Given the description of an element on the screen output the (x, y) to click on. 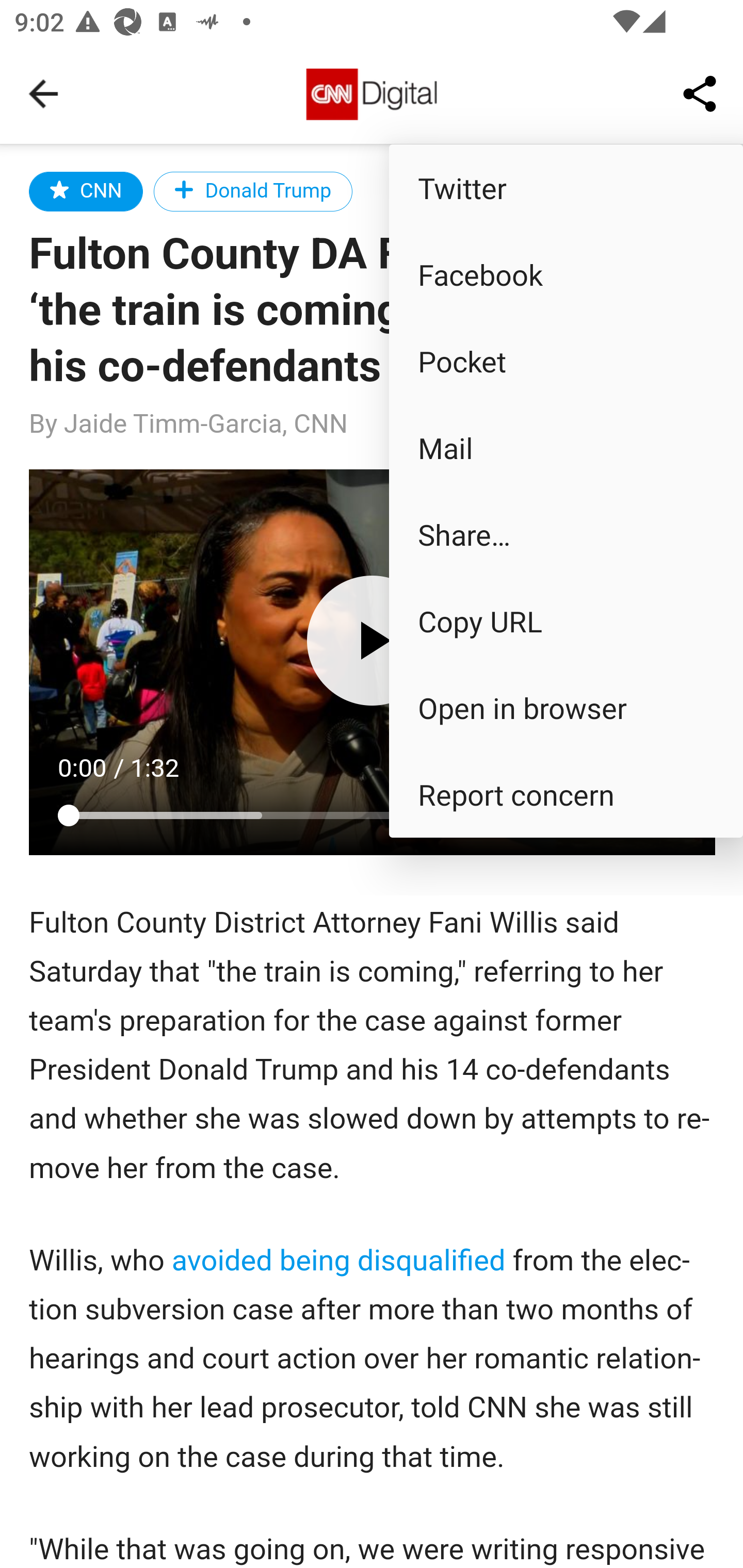
Twitter (566, 187)
Facebook (566, 274)
Pocket (566, 361)
Mail (566, 447)
Share… (566, 533)
Copy URL (566, 620)
Open in browser (566, 707)
Report concern (566, 794)
